Given the description of an element on the screen output the (x, y) to click on. 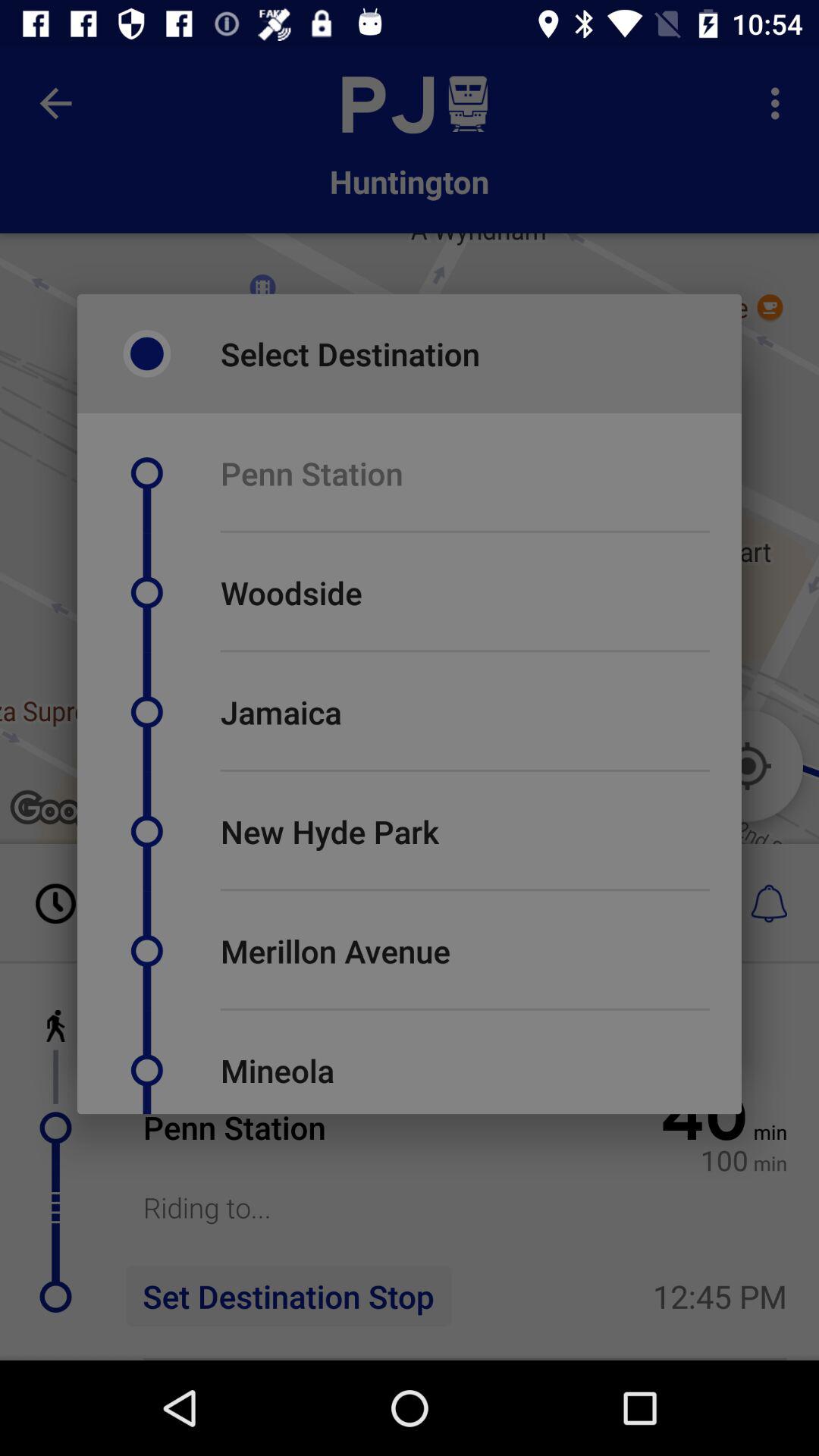
click the icon above woodside icon (464, 531)
